Given the description of an element on the screen output the (x, y) to click on. 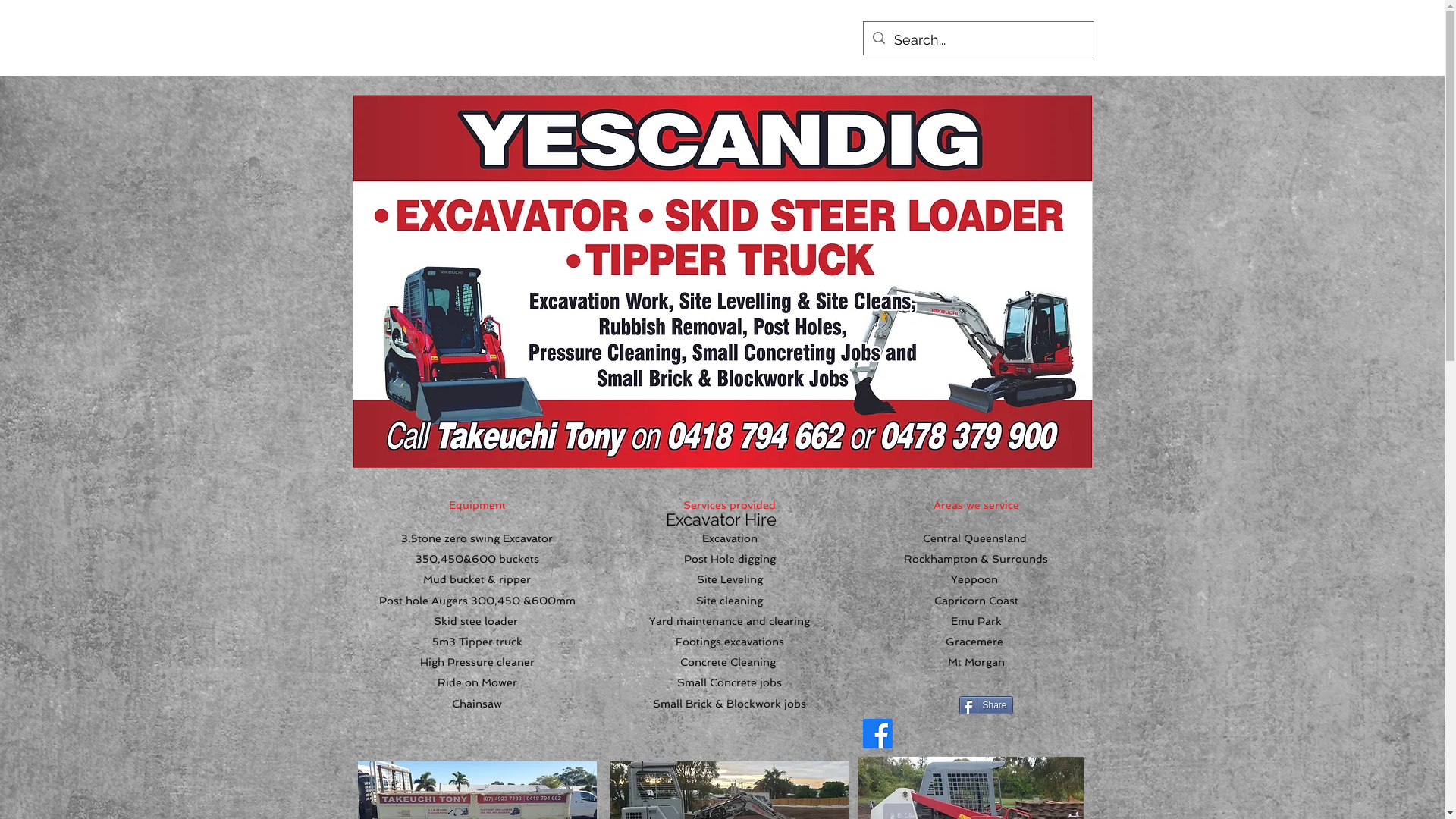
YESCANDIG jpeg.jpg Element type: hover (721, 280)
Facebook Like Element type: hover (975, 711)
Share Element type: text (985, 705)
